Given the description of an element on the screen output the (x, y) to click on. 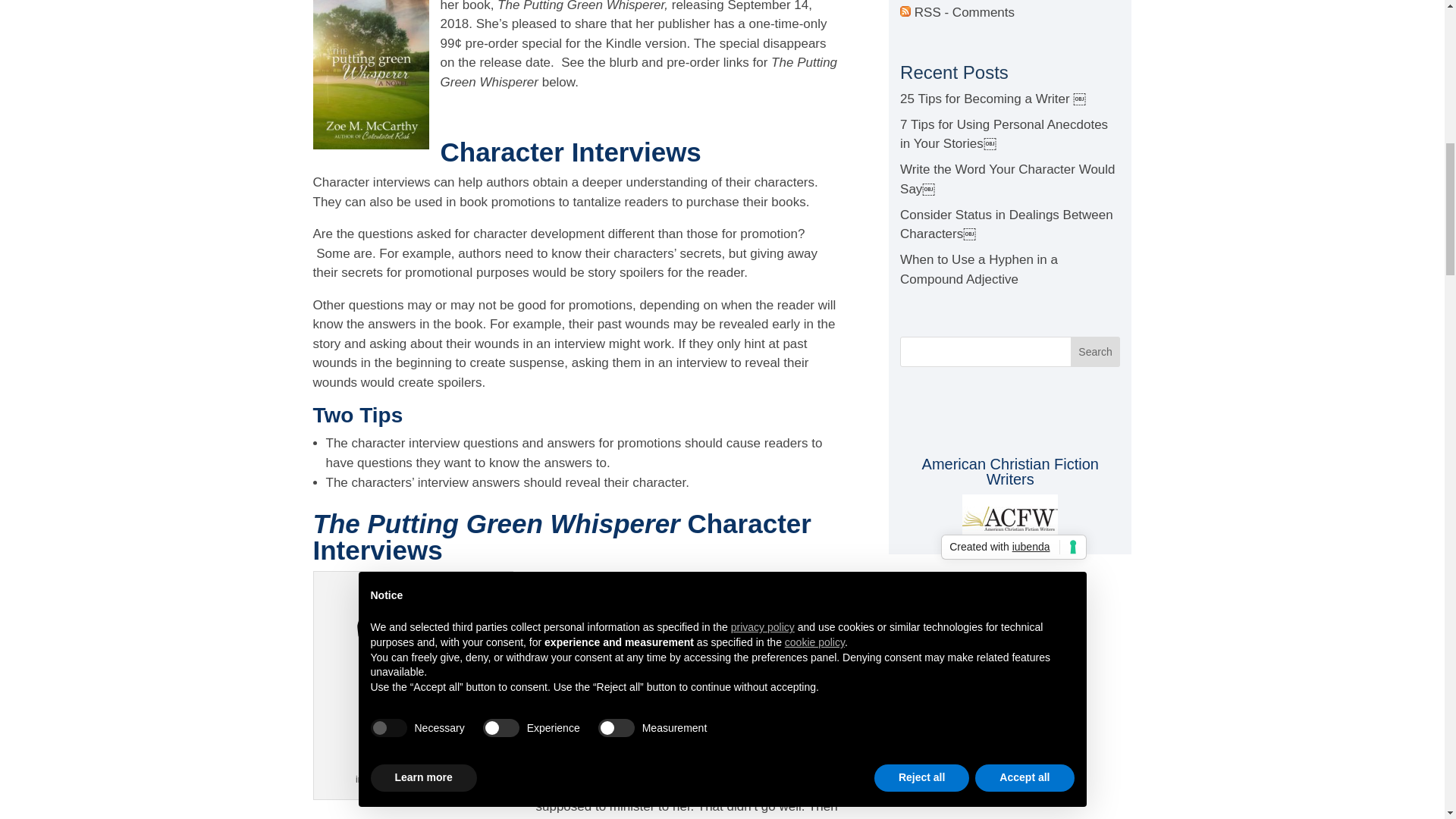
Search (1095, 351)
Subscribe to comments (956, 11)
